Given the description of an element on the screen output the (x, y) to click on. 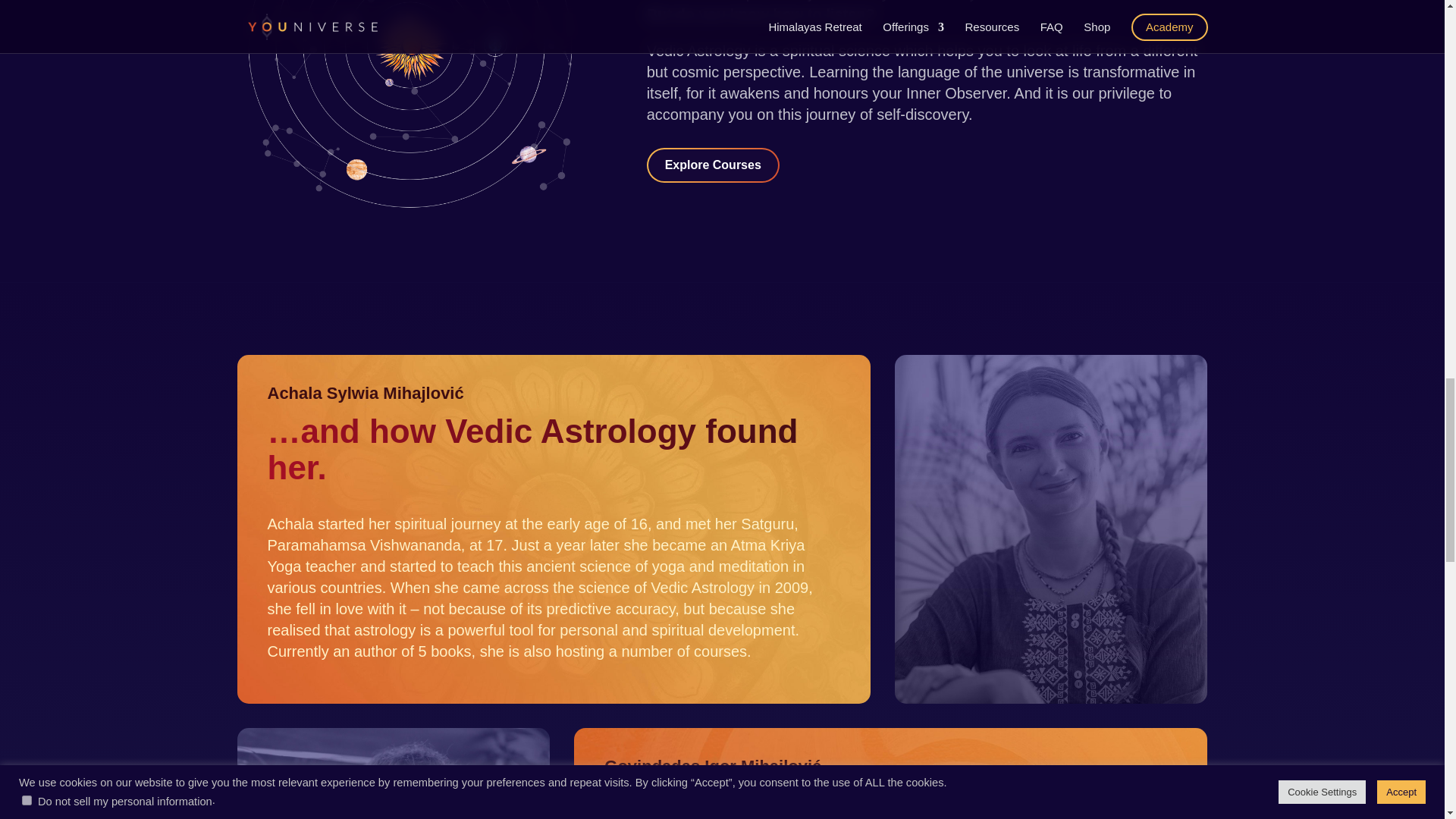
Explore Courses (712, 165)
Explore Courses (718, 163)
